Given the description of an element on the screen output the (x, y) to click on. 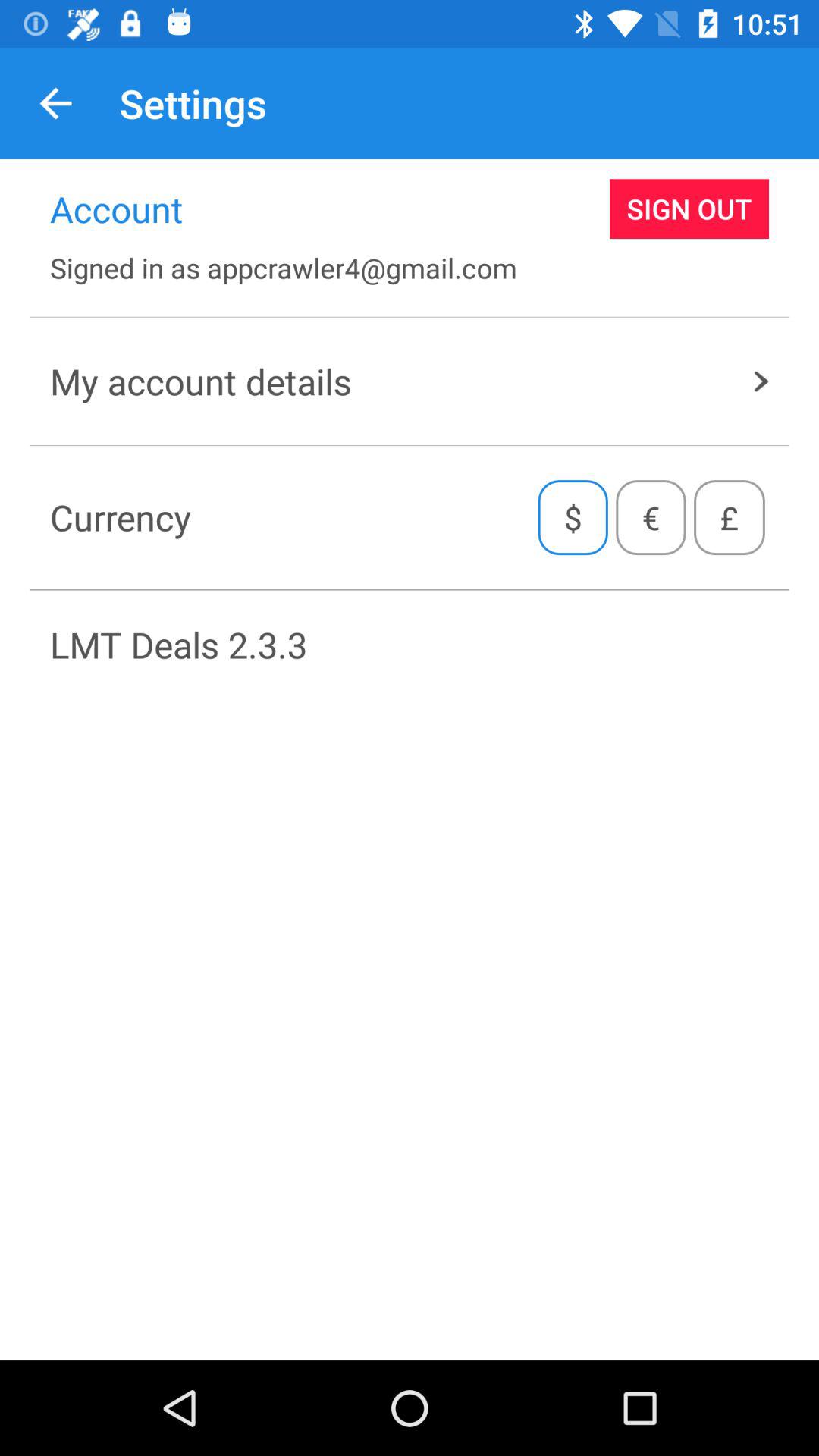
scroll until the $ (572, 517)
